Given the description of an element on the screen output the (x, y) to click on. 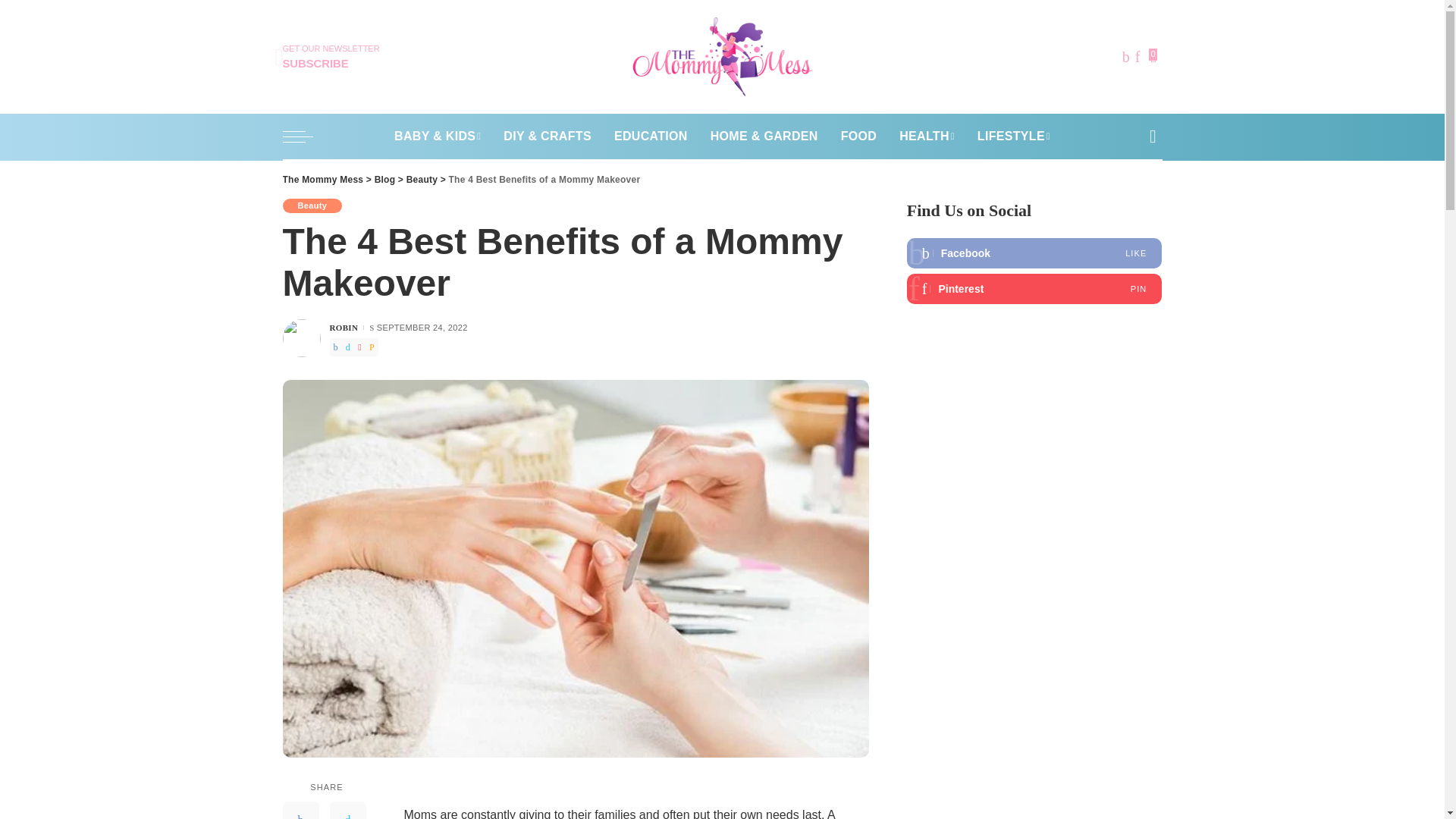
EDUCATION (650, 135)
Twitter (347, 810)
Go to Blog. (385, 179)
Facebook (300, 810)
Go to the Beauty Category archives. (422, 179)
Go to The Mommy Mess. (330, 57)
The 4 Best Benefits of a Mommy Makeover 1 (322, 179)
